Given the description of an element on the screen output the (x, y) to click on. 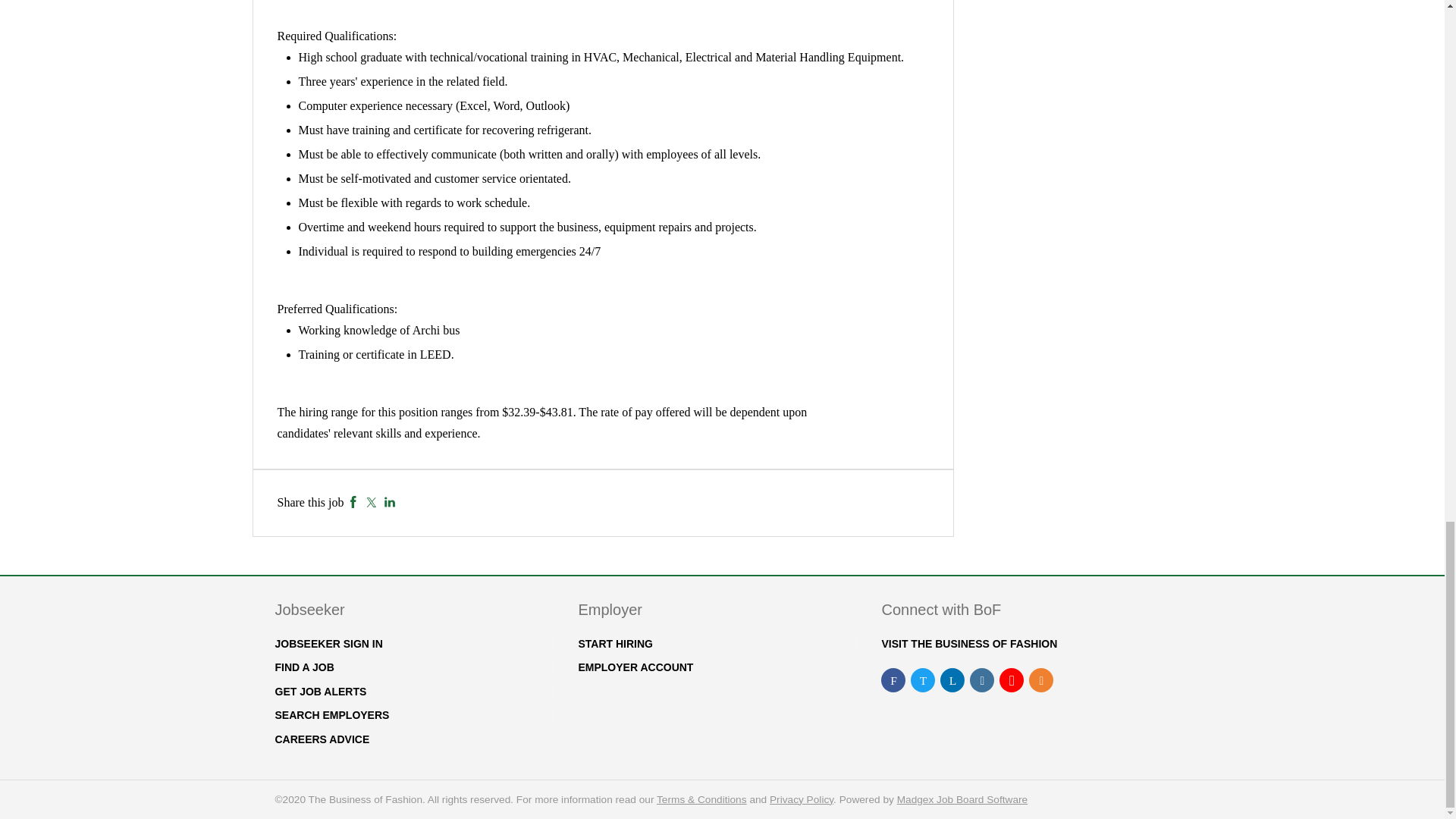
JOBSEEKER SIGN IN (328, 644)
FIND A JOB (304, 666)
Facebook (353, 502)
LinkedIn (390, 502)
GET JOB ALERTS (320, 691)
Twitter (371, 502)
